Given the description of an element on the screen output the (x, y) to click on. 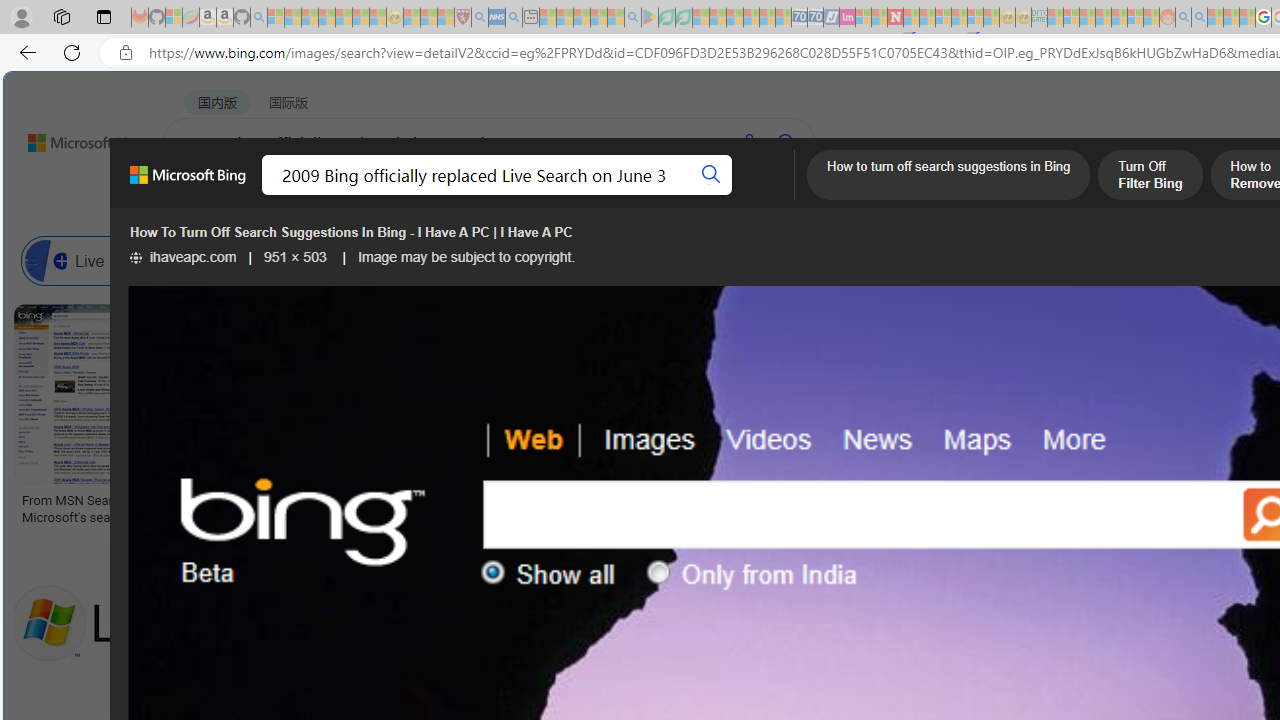
WEB (201, 195)
Bing Ai Search Engine Powered (943, 260)
MY BING (276, 195)
